Given the description of an element on the screen output the (x, y) to click on. 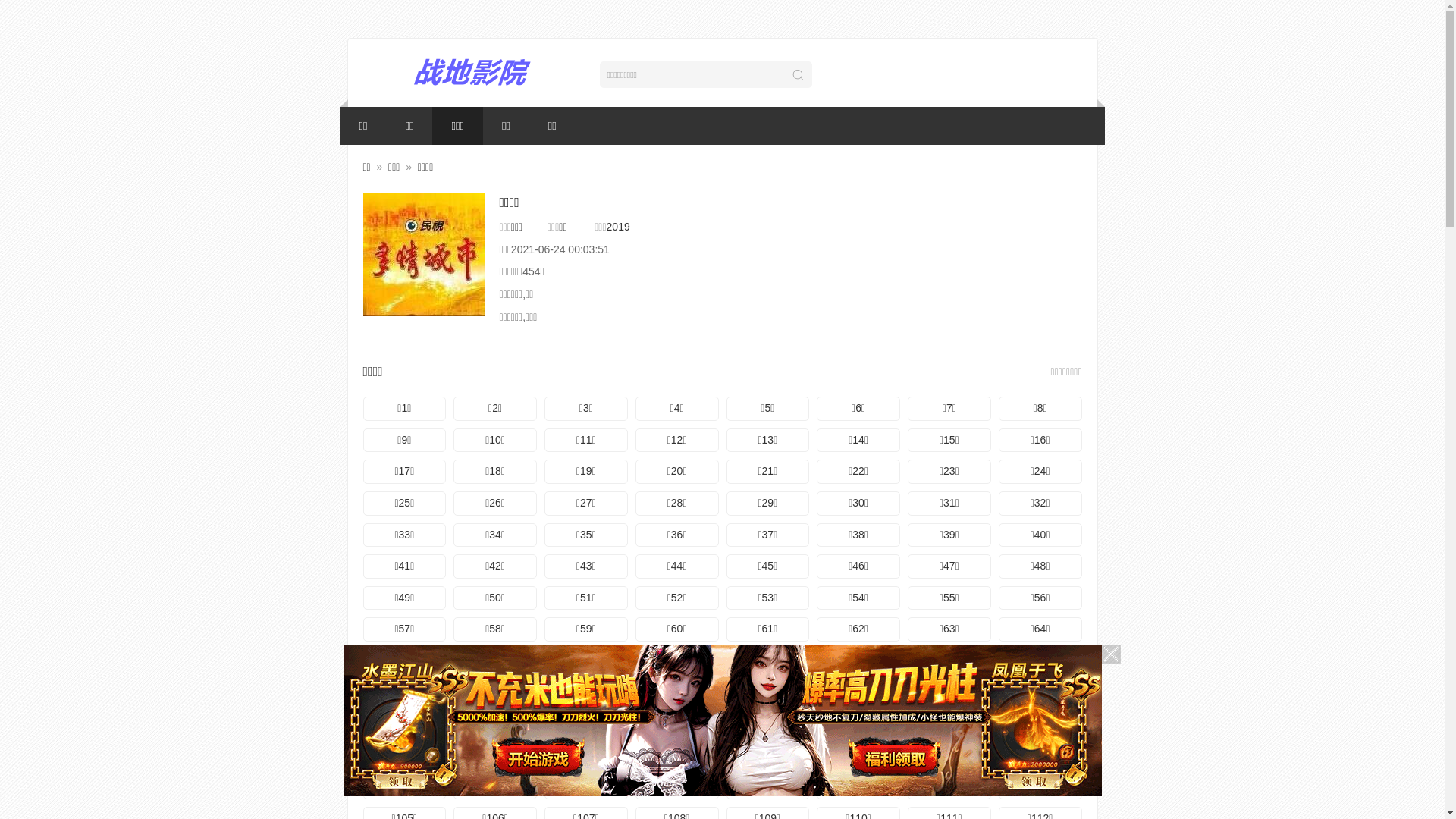
2019 Element type: text (618, 226)
